Given the description of an element on the screen output the (x, y) to click on. 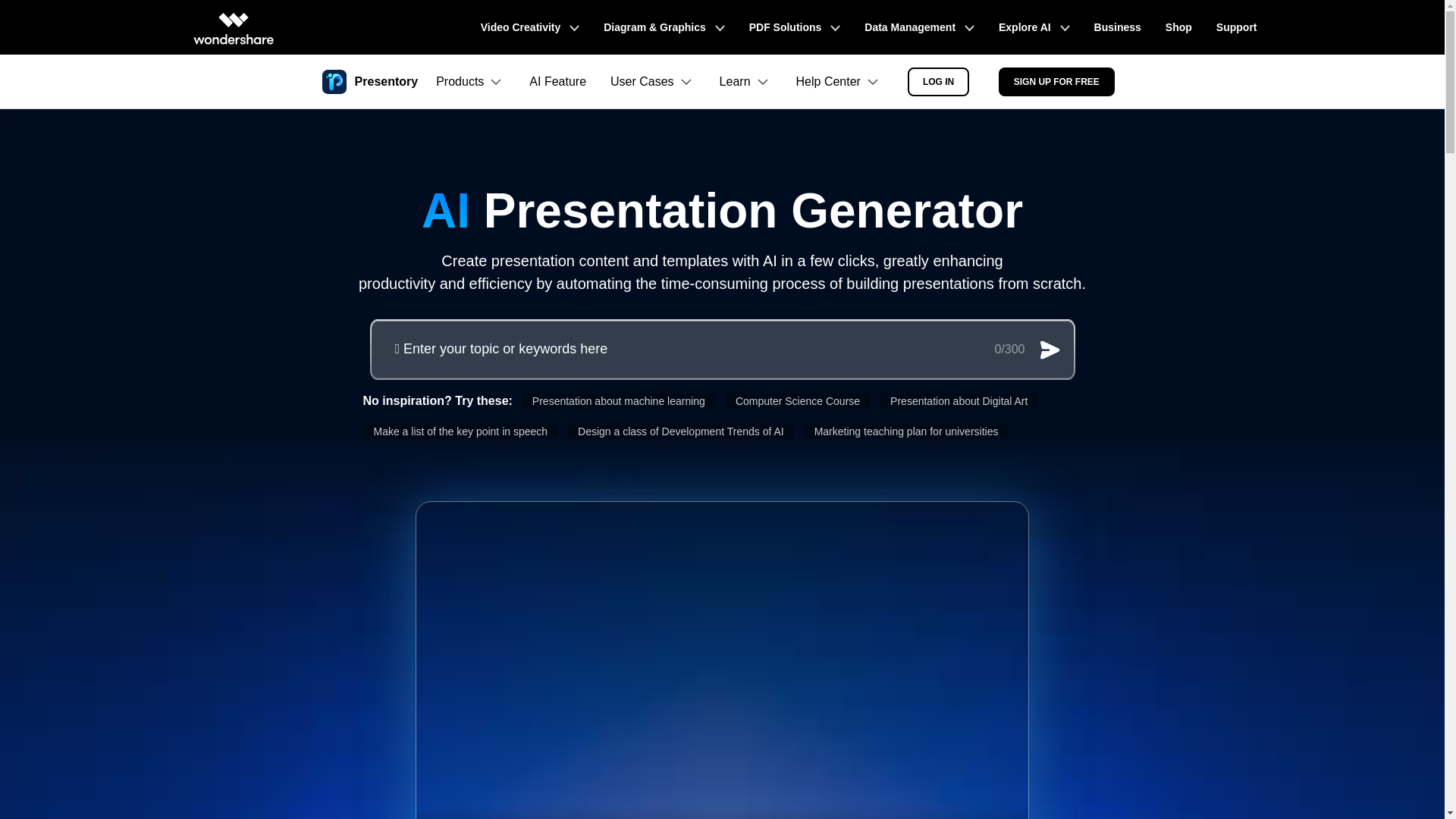
Explore AI (1034, 27)
Data Management (919, 27)
PDF Solutions (794, 27)
Video Creativity (529, 27)
Business (1117, 27)
